Given the description of an element on the screen output the (x, y) to click on. 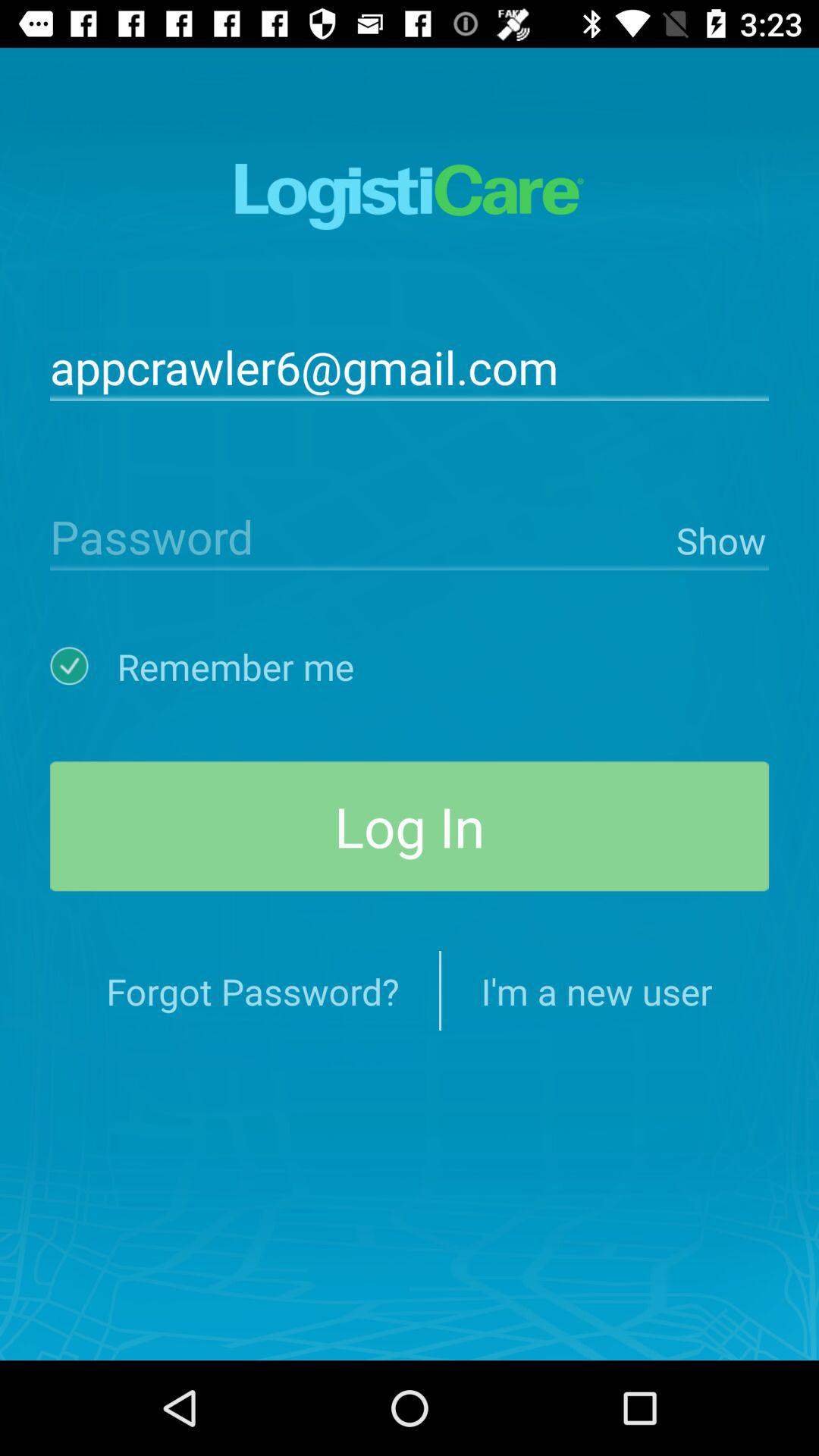
launch icon next to the show item (359, 535)
